Given the description of an element on the screen output the (x, y) to click on. 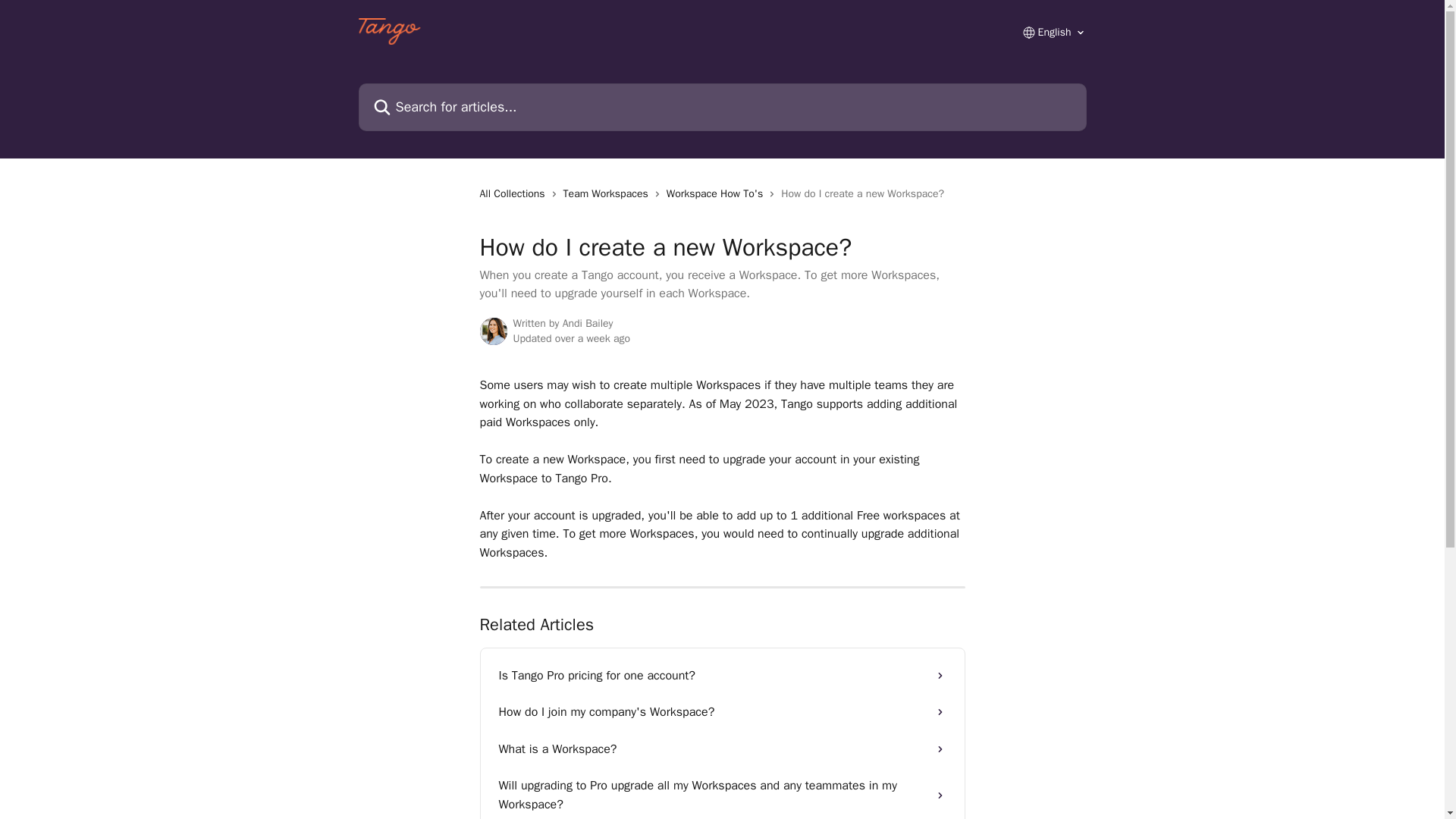
Team Workspaces (608, 193)
All Collections (514, 193)
What is a Workspace? (722, 749)
Is Tango Pro pricing for one account? (722, 675)
Workspace How To's (718, 193)
How do I join my company's Workspace? (722, 711)
